Given the description of an element on the screen output the (x, y) to click on. 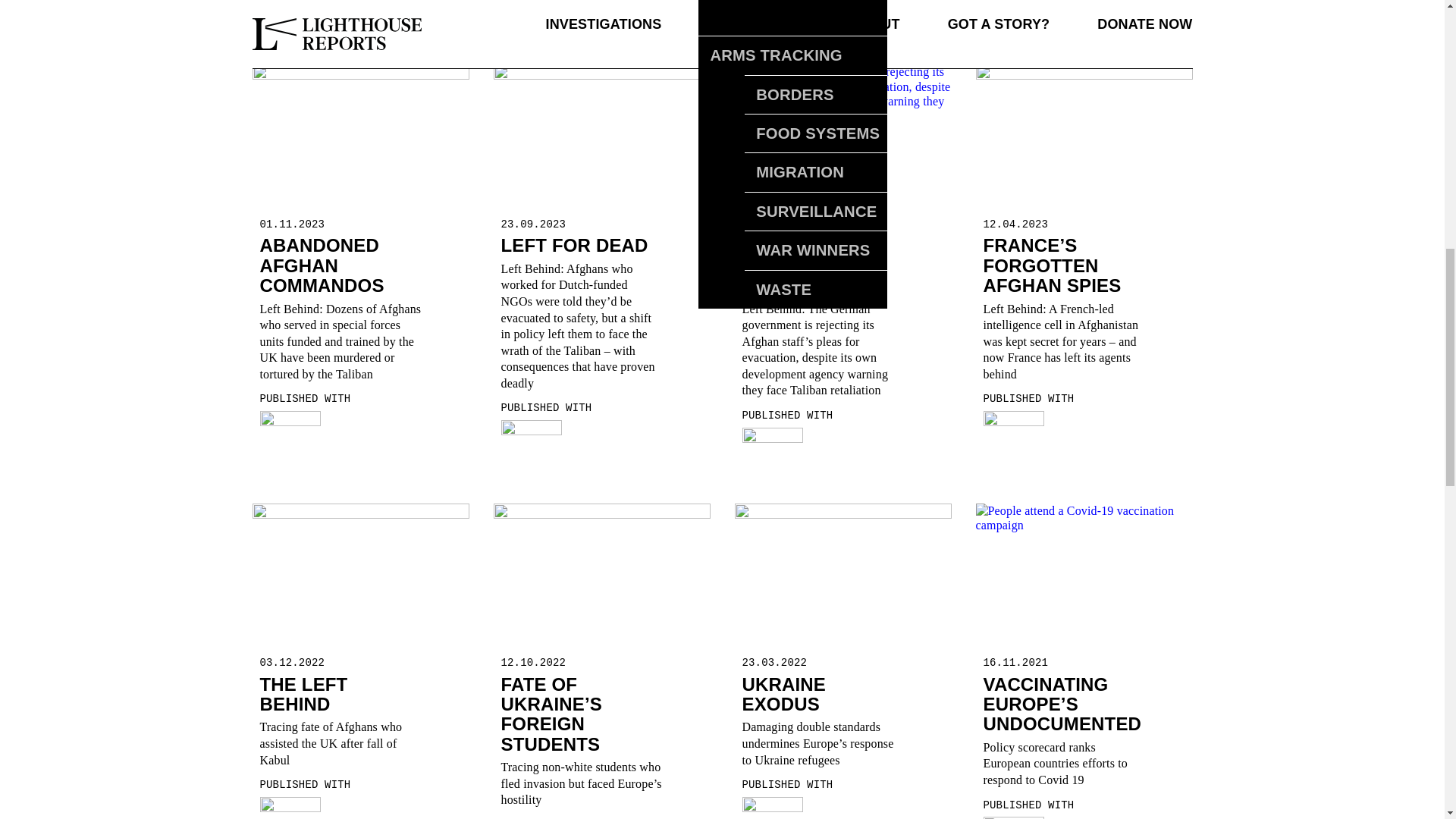
The Observer (289, 807)
THE LEFT BEHIND (303, 694)
BBC Panorama (771, 12)
LEFT FOR DEAD (573, 245)
The Independent (289, 428)
ABANDONED AFGHAN COMMANDOS (321, 265)
The Independent (771, 807)
Publico (1012, 817)
Le Monde (1012, 428)
Trouw (530, 437)
